Given the description of an element on the screen output the (x, y) to click on. 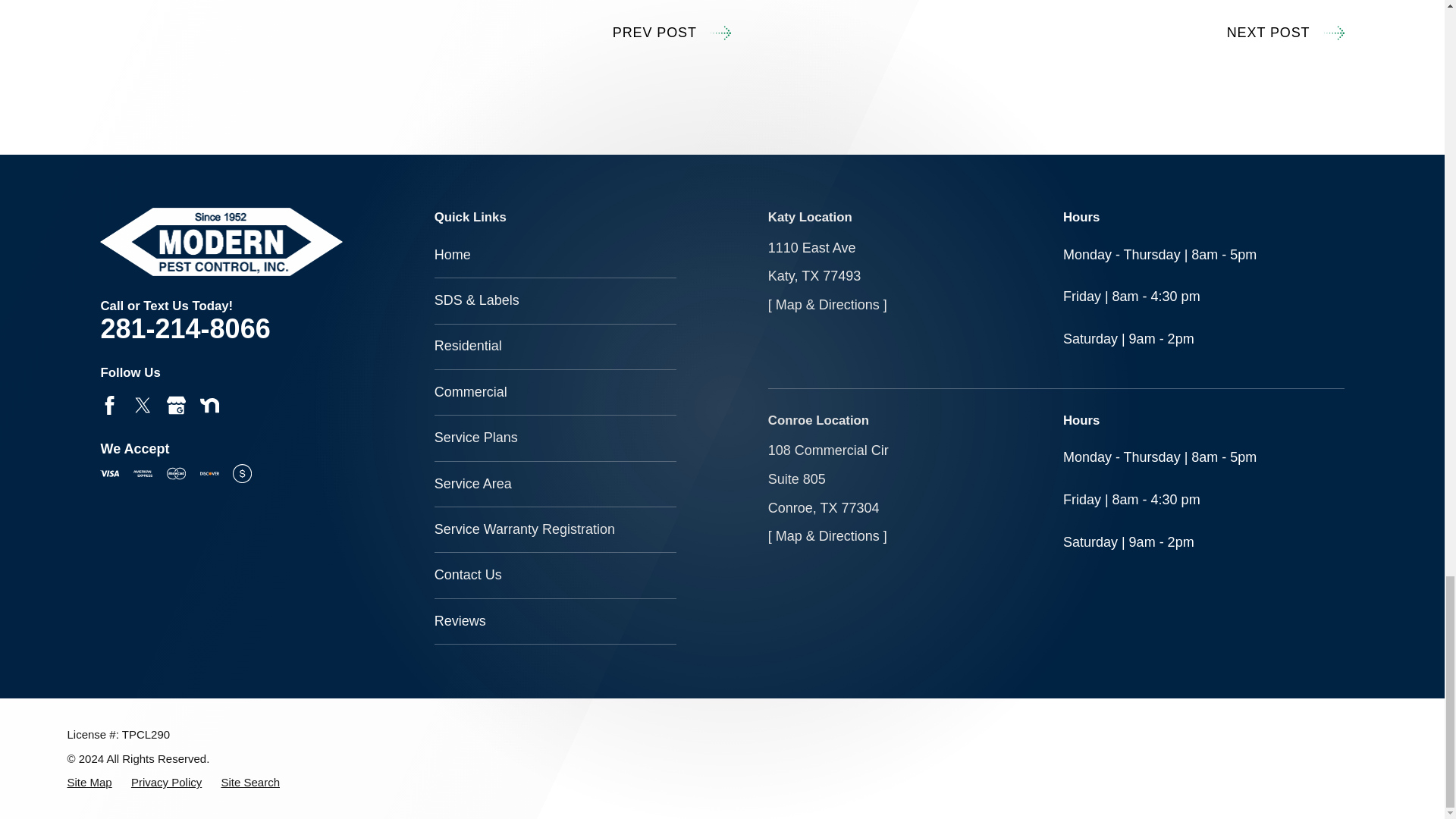
Facebook (109, 404)
Twitter (142, 404)
Nextdoor (209, 404)
Visa (109, 473)
Home (221, 241)
Google Business Profile (176, 404)
